Given the description of an element on the screen output the (x, y) to click on. 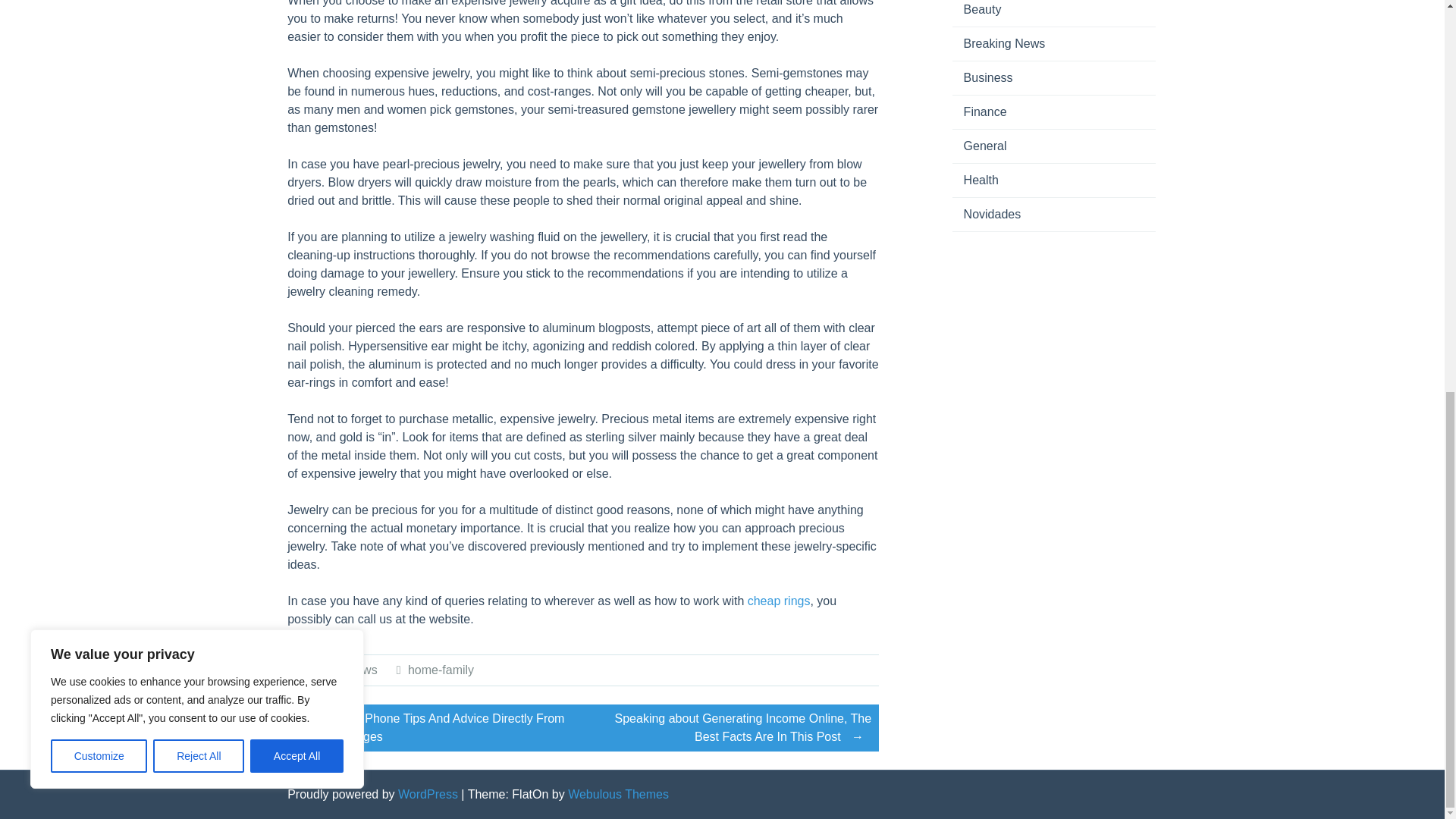
Customize (98, 11)
Reject All (198, 11)
cheap rings (779, 600)
Breaking News (336, 669)
home-family (440, 669)
Accept All (296, 11)
